Given the description of an element on the screen output the (x, y) to click on. 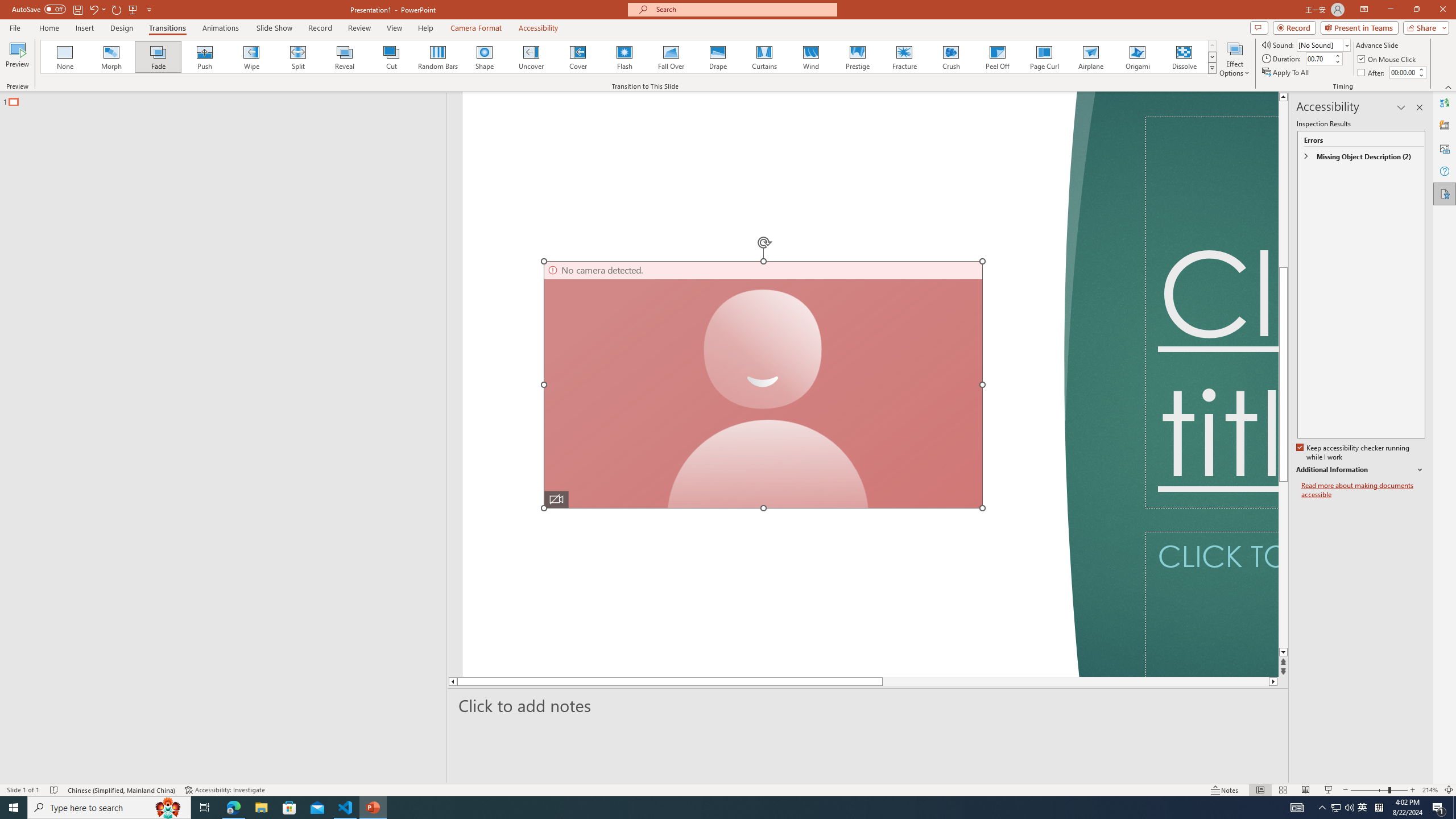
Random Bars (437, 56)
Zoom 214% (1430, 790)
Cover (577, 56)
On Mouse Click (1387, 58)
Title TextBox (1211, 312)
Page Curl (1043, 56)
Page down (1052, 681)
Reveal (344, 56)
